Given the description of an element on the screen output the (x, y) to click on. 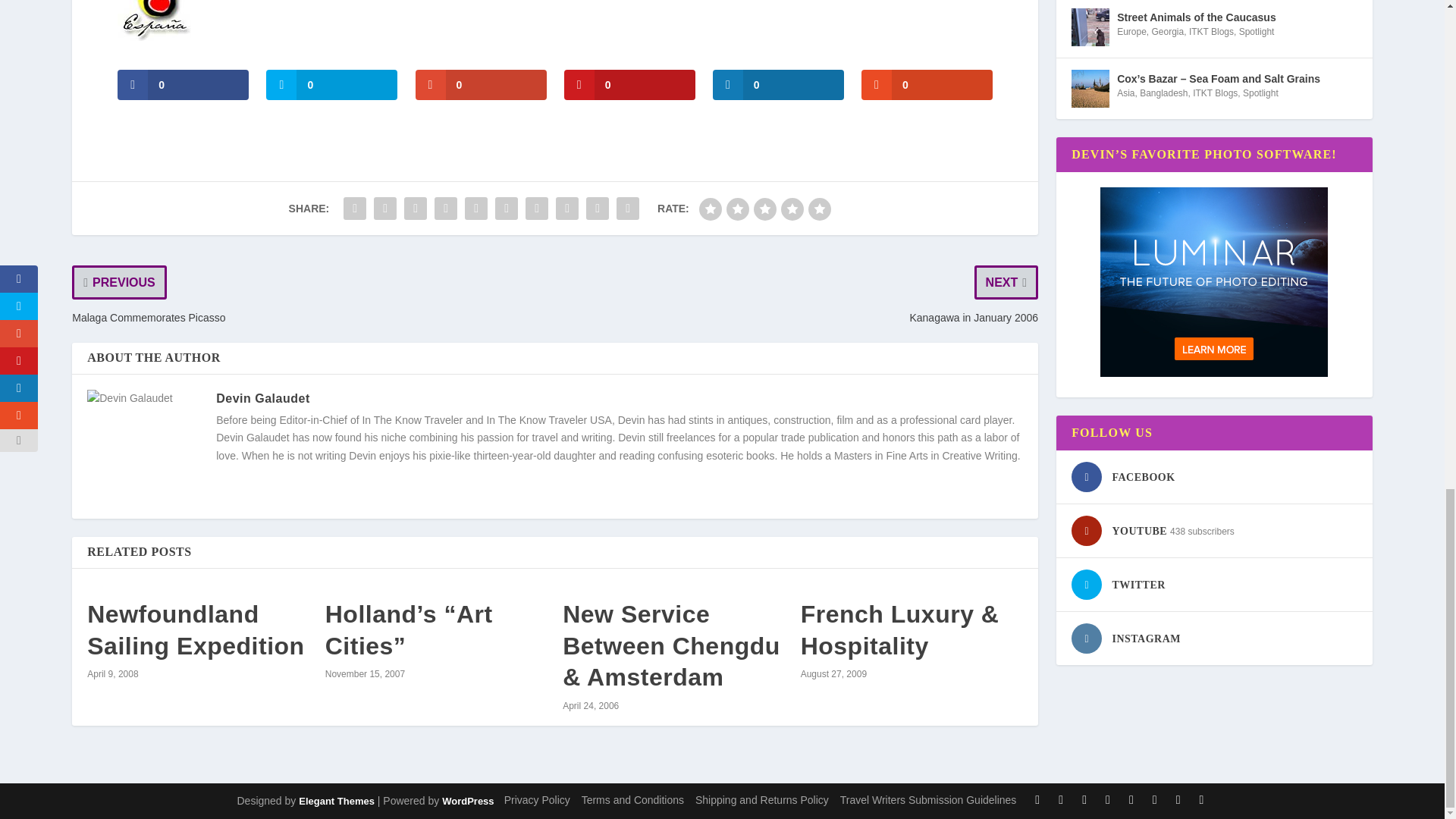
Share "Chestnuts Roasting" via Pinterest (476, 208)
Share "Chestnuts Roasting" via Tumblr (445, 208)
Share "Chestnuts Roasting" via LinkedIn (506, 208)
Share "Chestnuts Roasting" via Facebook (354, 208)
Share "Chestnuts Roasting" via Stumbleupon (566, 208)
Share "Chestnuts Roasting" via Twitter (384, 208)
Share "Chestnuts Roasting" via Buffer (536, 208)
